Given the description of an element on the screen output the (x, y) to click on. 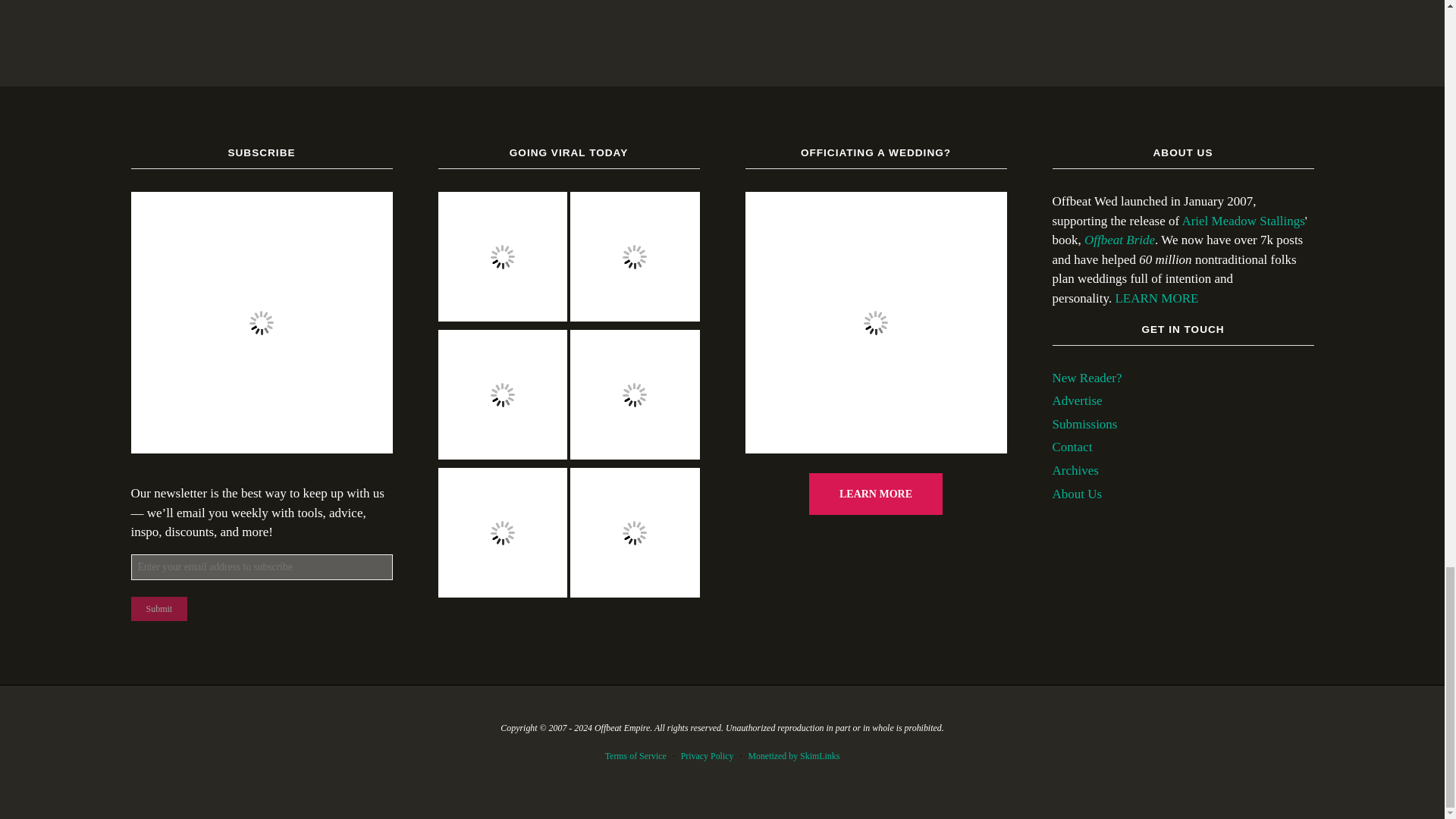
Submit (159, 608)
7 unique wedding welcome bag ideas (502, 534)
